Given the description of an element on the screen output the (x, y) to click on. 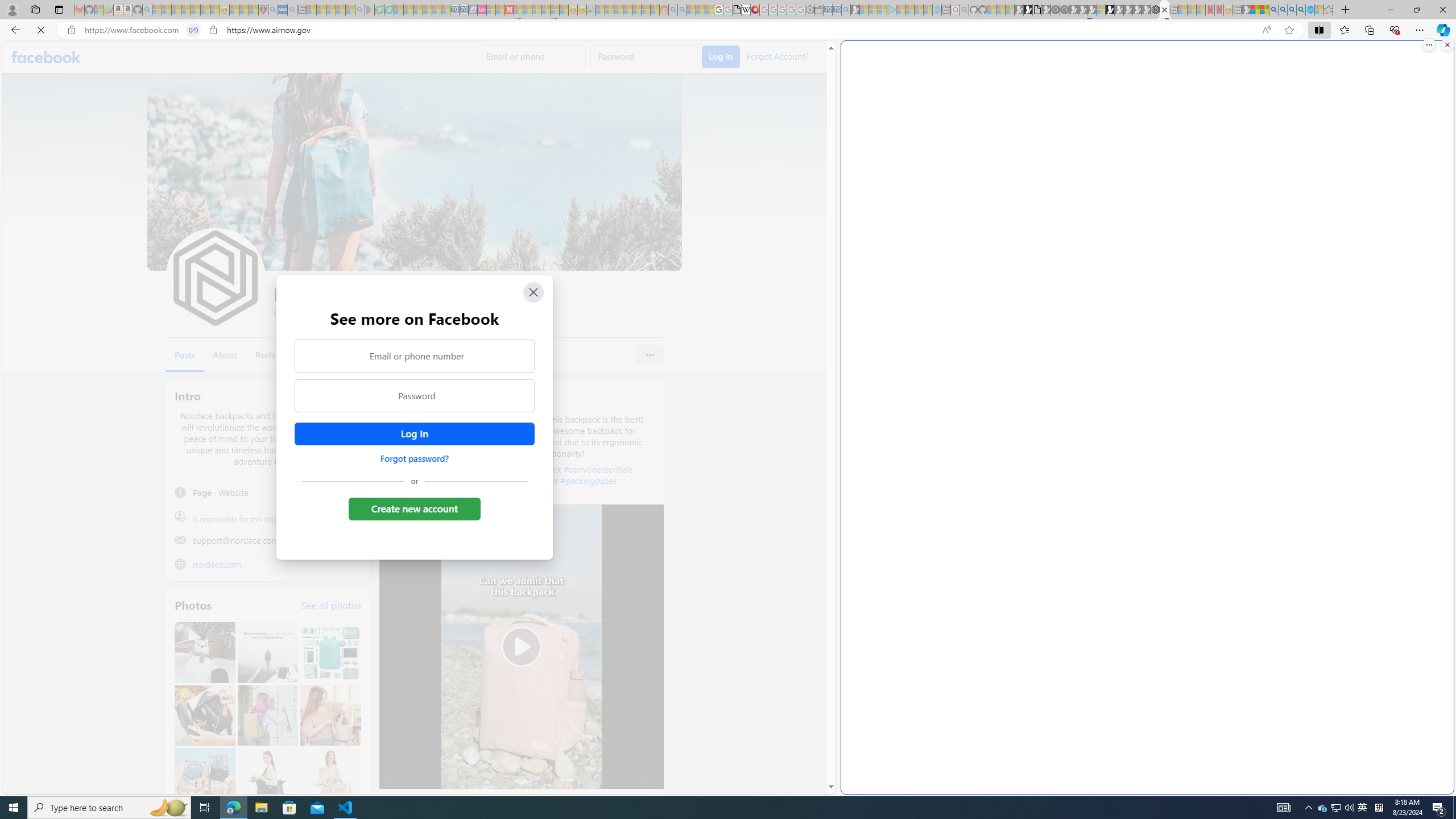
Cheap Hotels - Save70.com - Sleeping (463, 9)
Play Zoo Boom in your browser | Games from Microsoft Start (1027, 9)
Microsoft Start - Sleeping (919, 9)
google_privacy_policy_zh-CN.pdf (736, 9)
MSNBC - MSN - Sleeping (600, 9)
Microsoft Start Gaming - Sleeping (854, 9)
Microsoft-Report a Concern to Bing - Sleeping (98, 9)
AirNow.gov (1163, 9)
Home | Sky Blue Bikes - Sky Blue Bikes - Sleeping (936, 9)
